Given the description of an element on the screen output the (x, y) to click on. 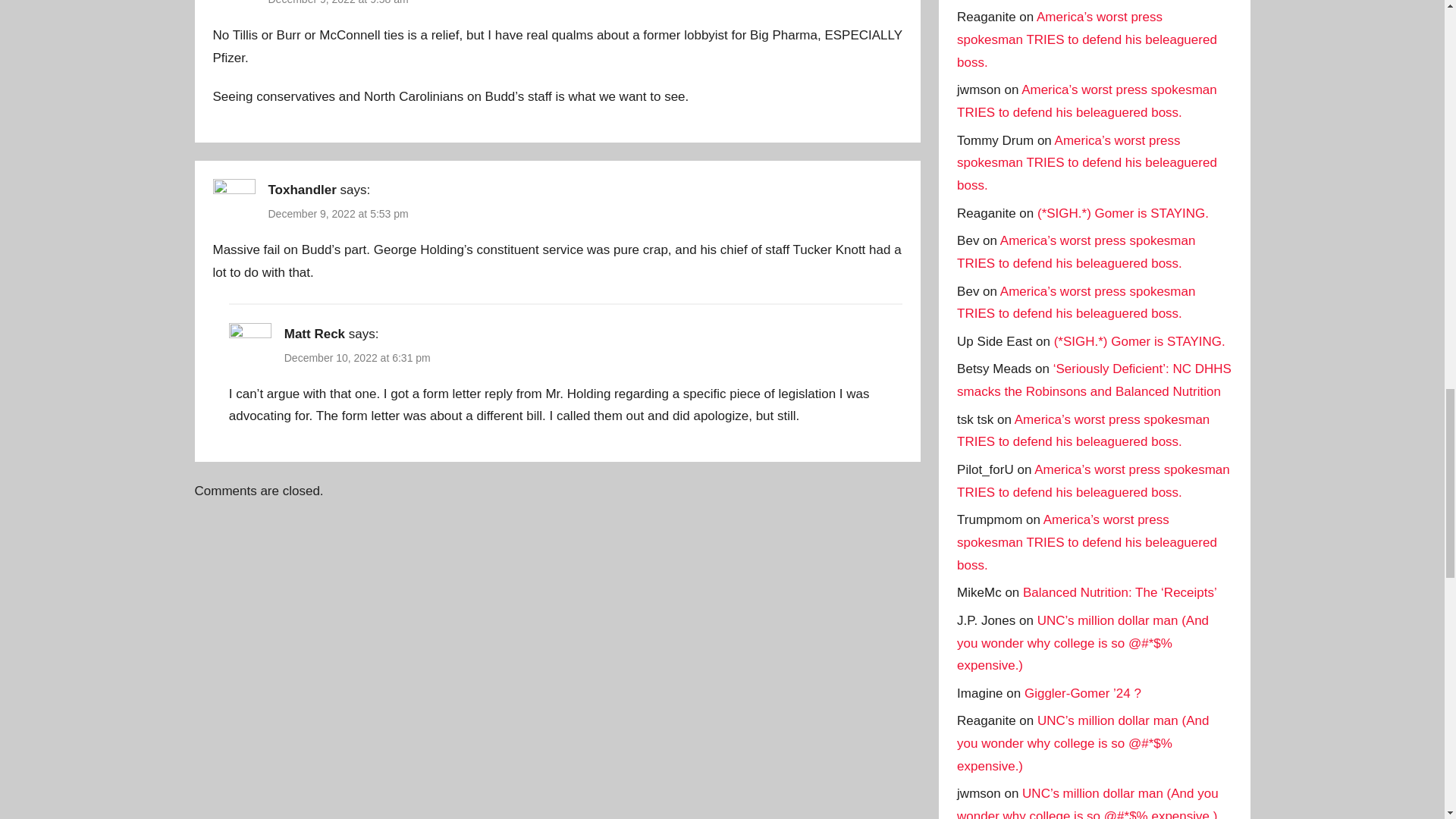
December 9, 2022 at 5:53 pm (338, 214)
December 9, 2022 at 9:58 am (338, 2)
December 10, 2022 at 6:31 pm (356, 357)
